Given the description of an element on the screen output the (x, y) to click on. 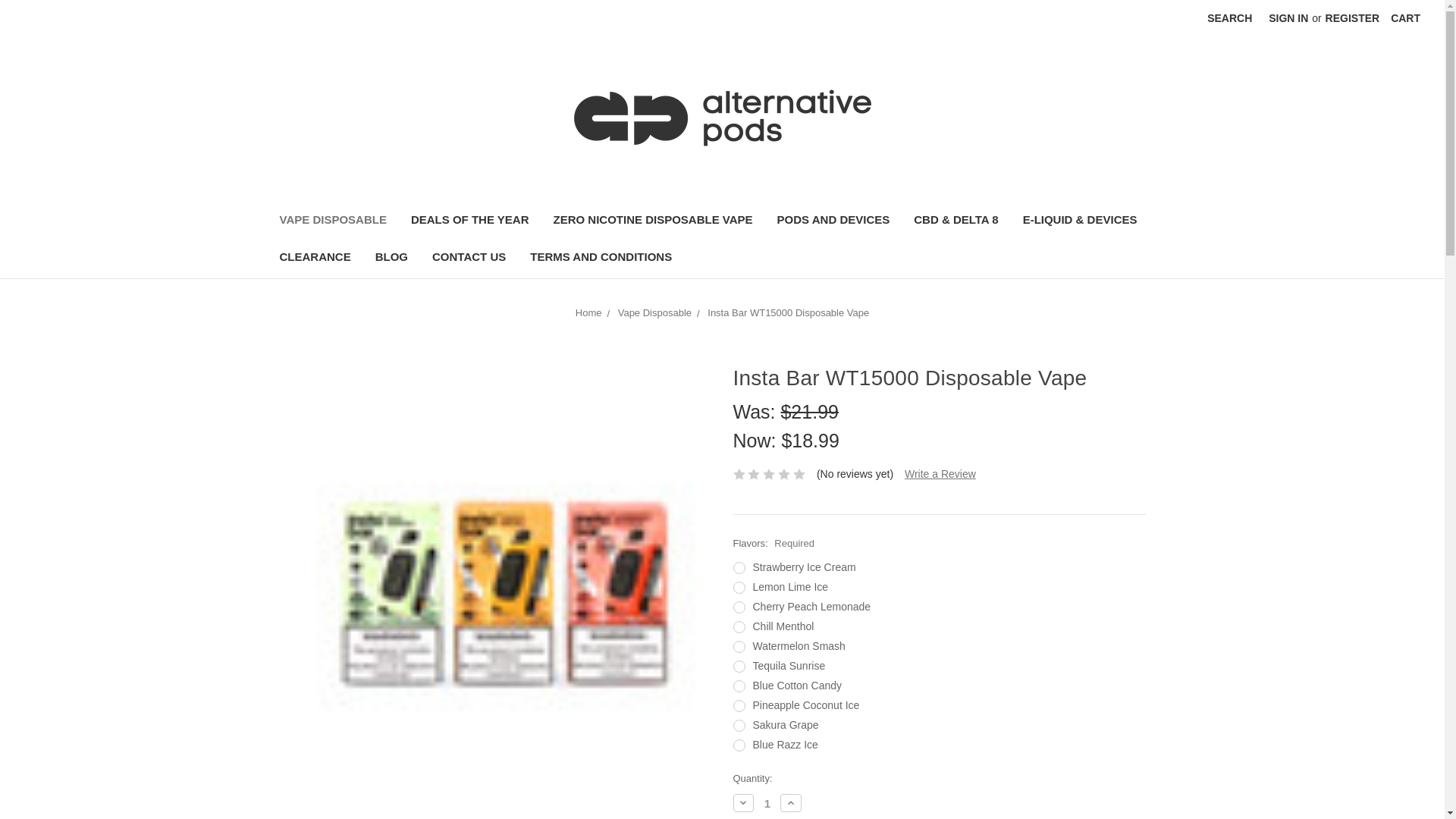
1 (767, 802)
CONTACT US (469, 258)
REGISTER (1353, 18)
Increase Quantity: (791, 802)
SEARCH (1229, 18)
Write a Review (939, 473)
PODS AND DEVICES (833, 221)
Decrease Quantity: (743, 802)
